Given the description of an element on the screen output the (x, y) to click on. 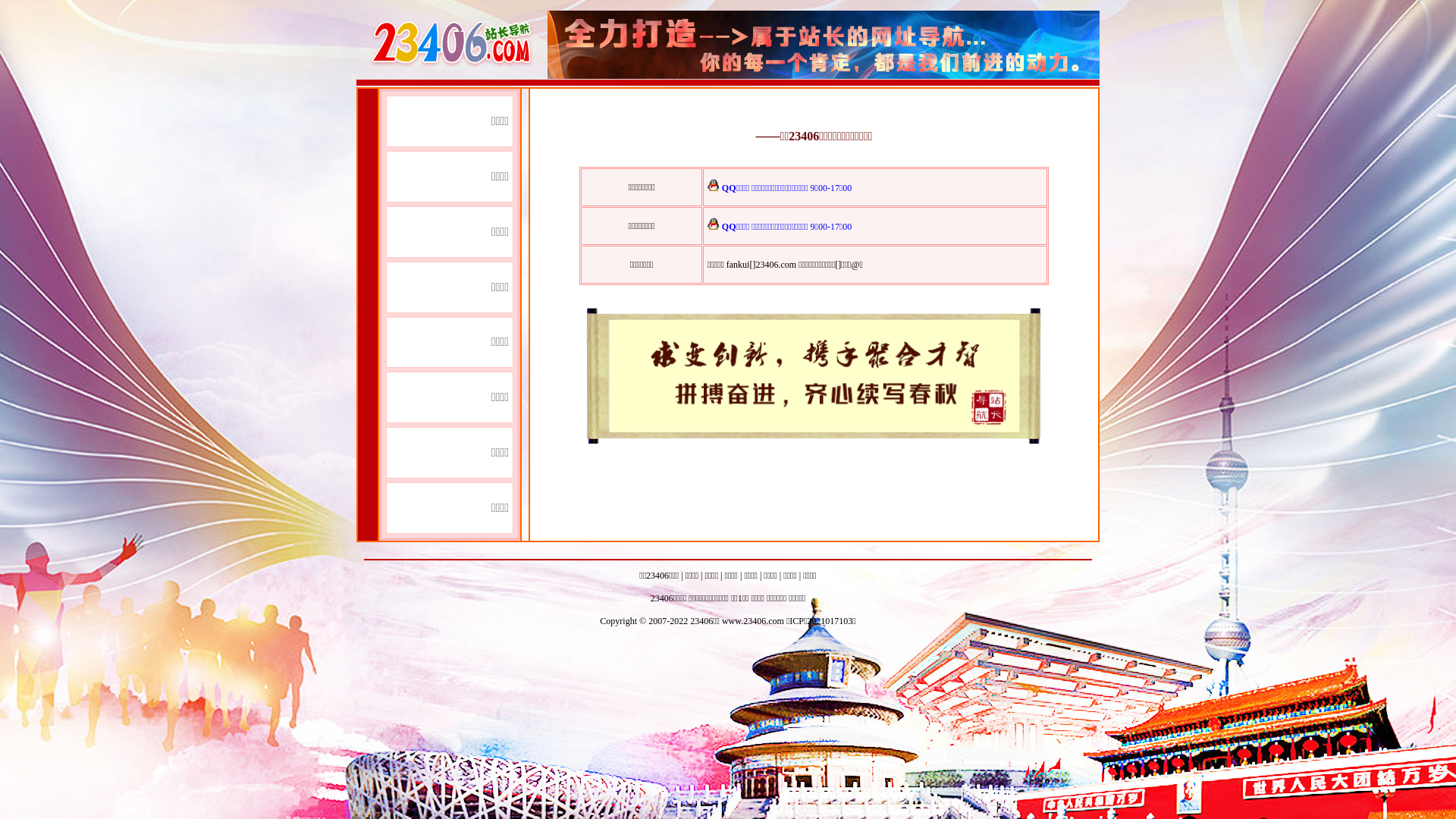
www.23406.com Element type: text (752, 620)
